Given the description of an element on the screen output the (x, y) to click on. 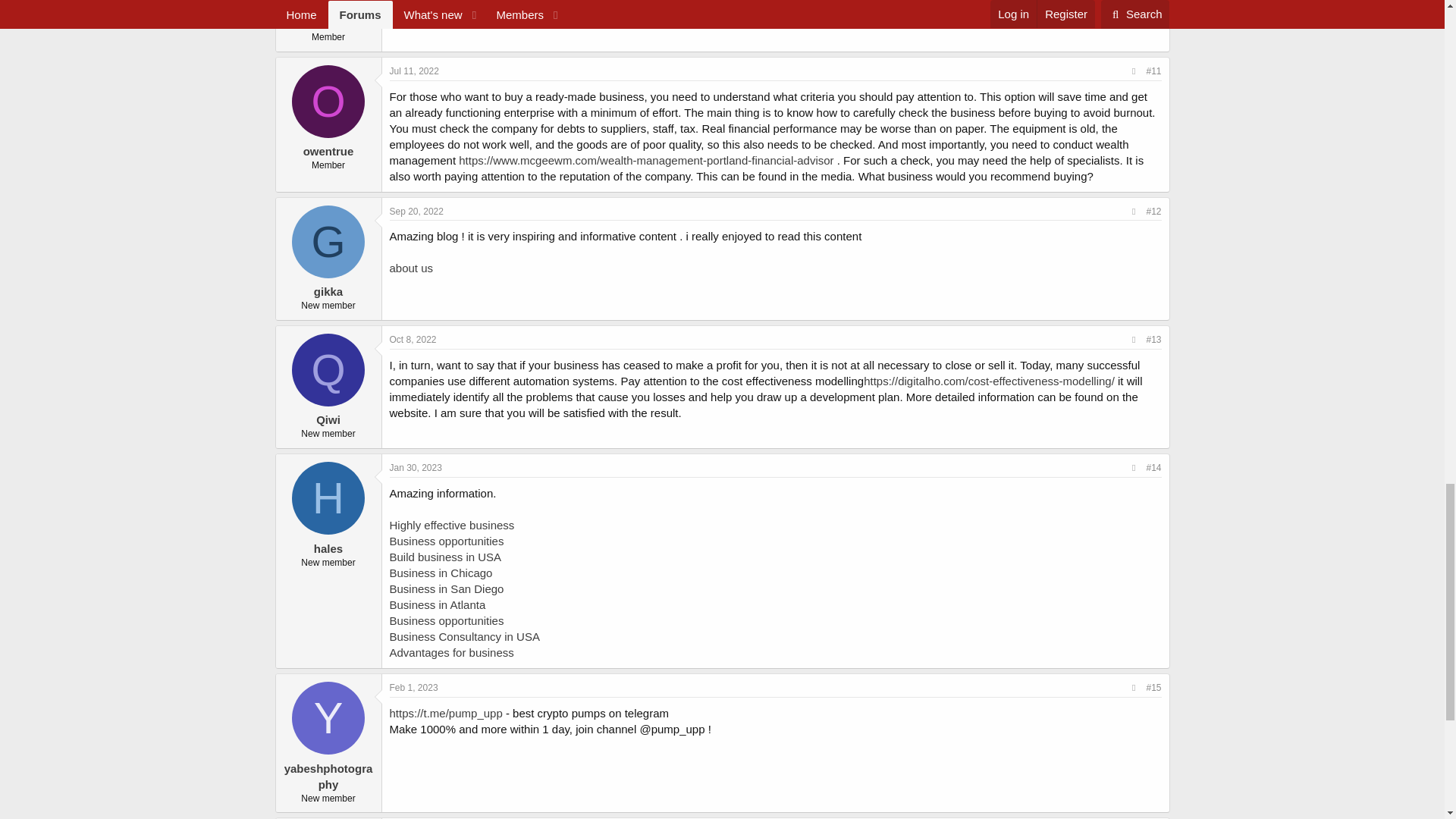
Jan 30, 2023 at 11:03 AM (416, 467)
Sep 20, 2022 at 6:03 PM (417, 211)
Oct 8, 2022 at 10:13 AM (413, 339)
Feb 1, 2023 at 3:15 AM (414, 687)
Jul 11, 2022 at 8:01 AM (414, 71)
